Given the description of an element on the screen output the (x, y) to click on. 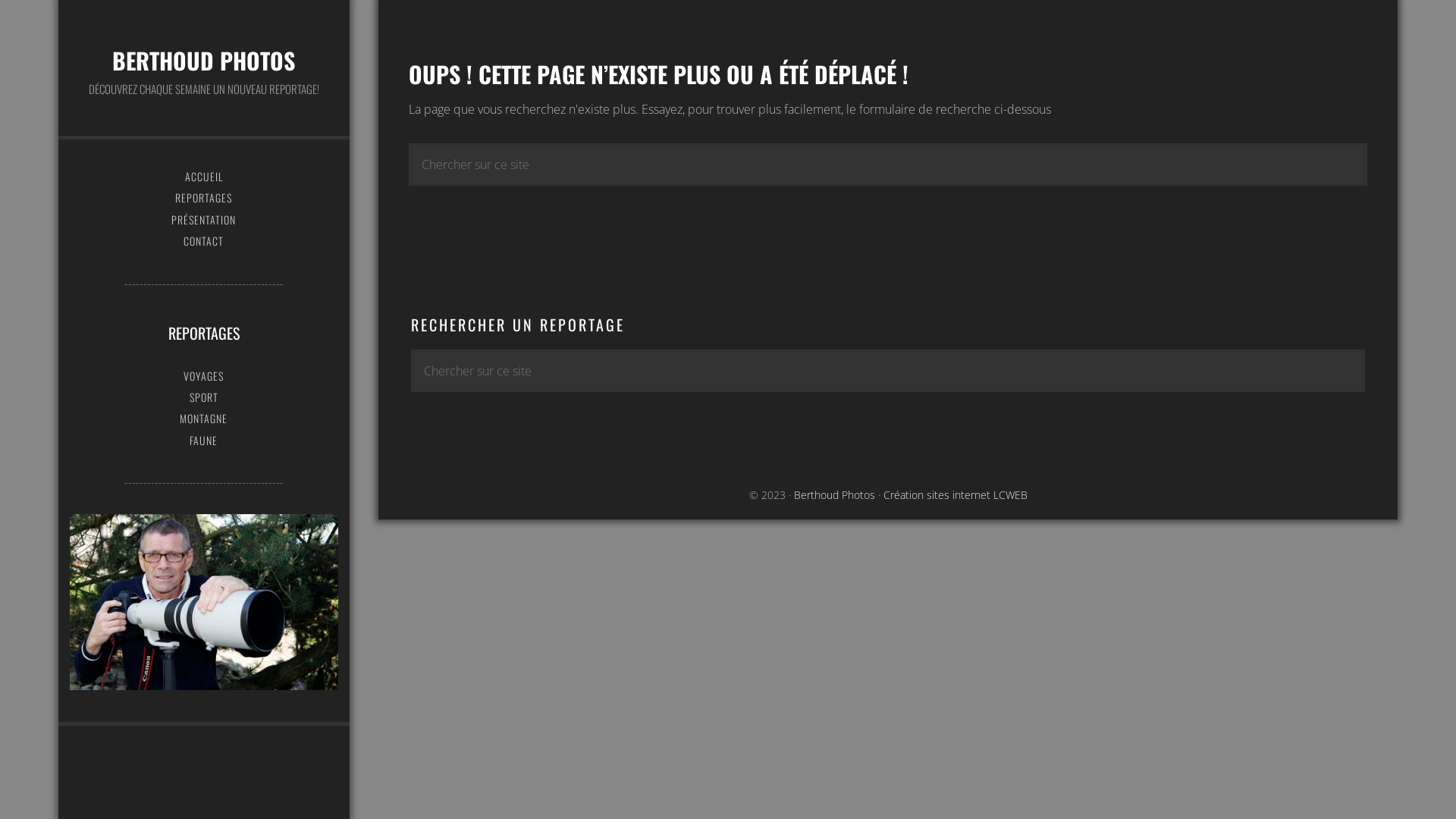
FAUNE Element type: text (203, 440)
ACCUEIL Element type: text (203, 176)
BERTHOUD PHOTOS Element type: text (203, 60)
VOYAGES Element type: text (203, 375)
SPORT Element type: text (203, 396)
MONTAGNE Element type: text (203, 418)
REPORTAGES Element type: text (203, 197)
Berthoud Photos Element type: text (834, 494)
Recherche Element type: text (1366, 138)
Recherche Element type: text (1364, 345)
CONTACT Element type: text (203, 240)
